Given the description of an element on the screen output the (x, y) to click on. 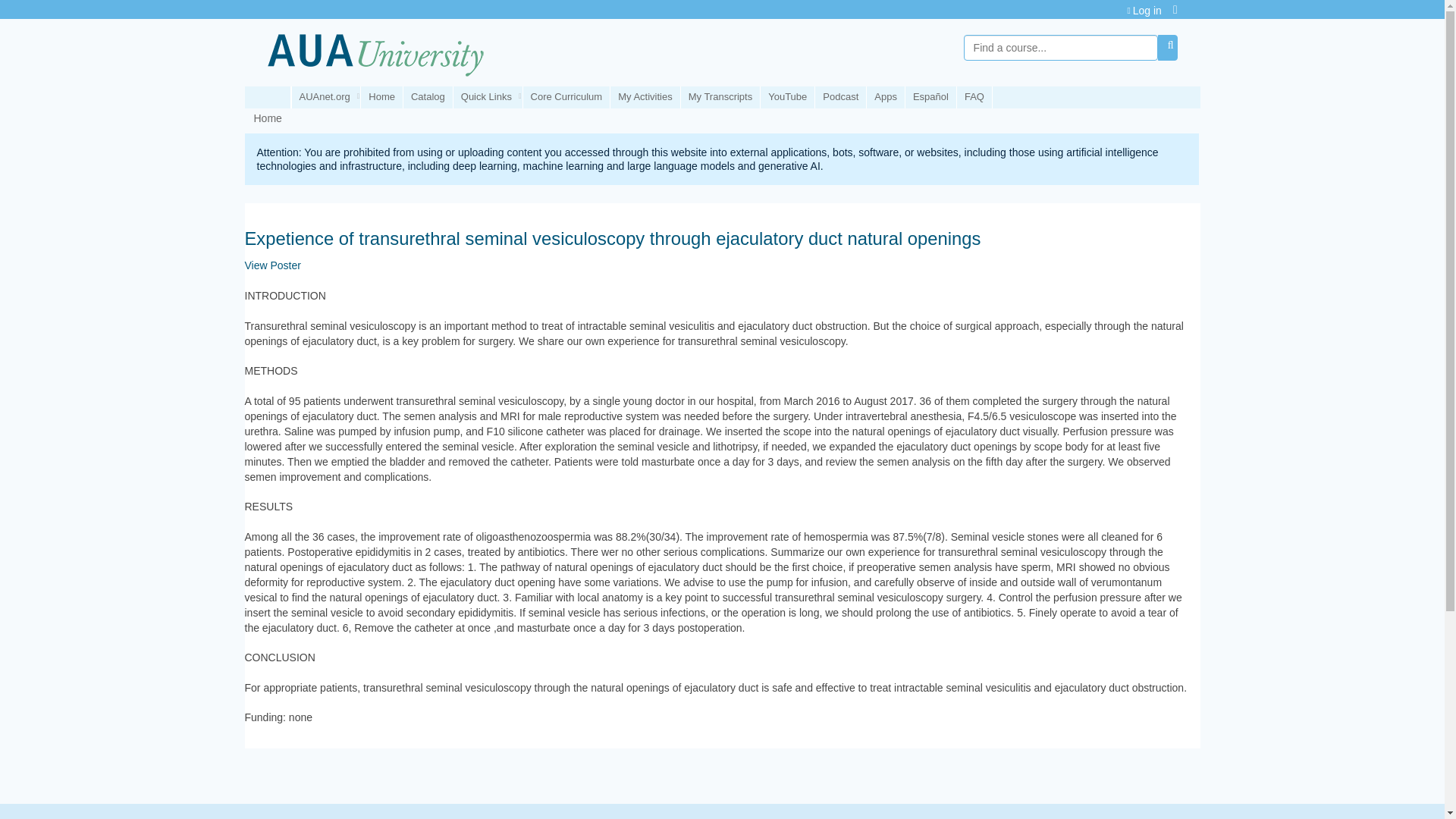
Log in (1143, 11)
Home (374, 52)
Quick Links (487, 97)
Home (382, 97)
Catalog (427, 97)
AUAnet.org (325, 97)
